Given the description of an element on the screen output the (x, y) to click on. 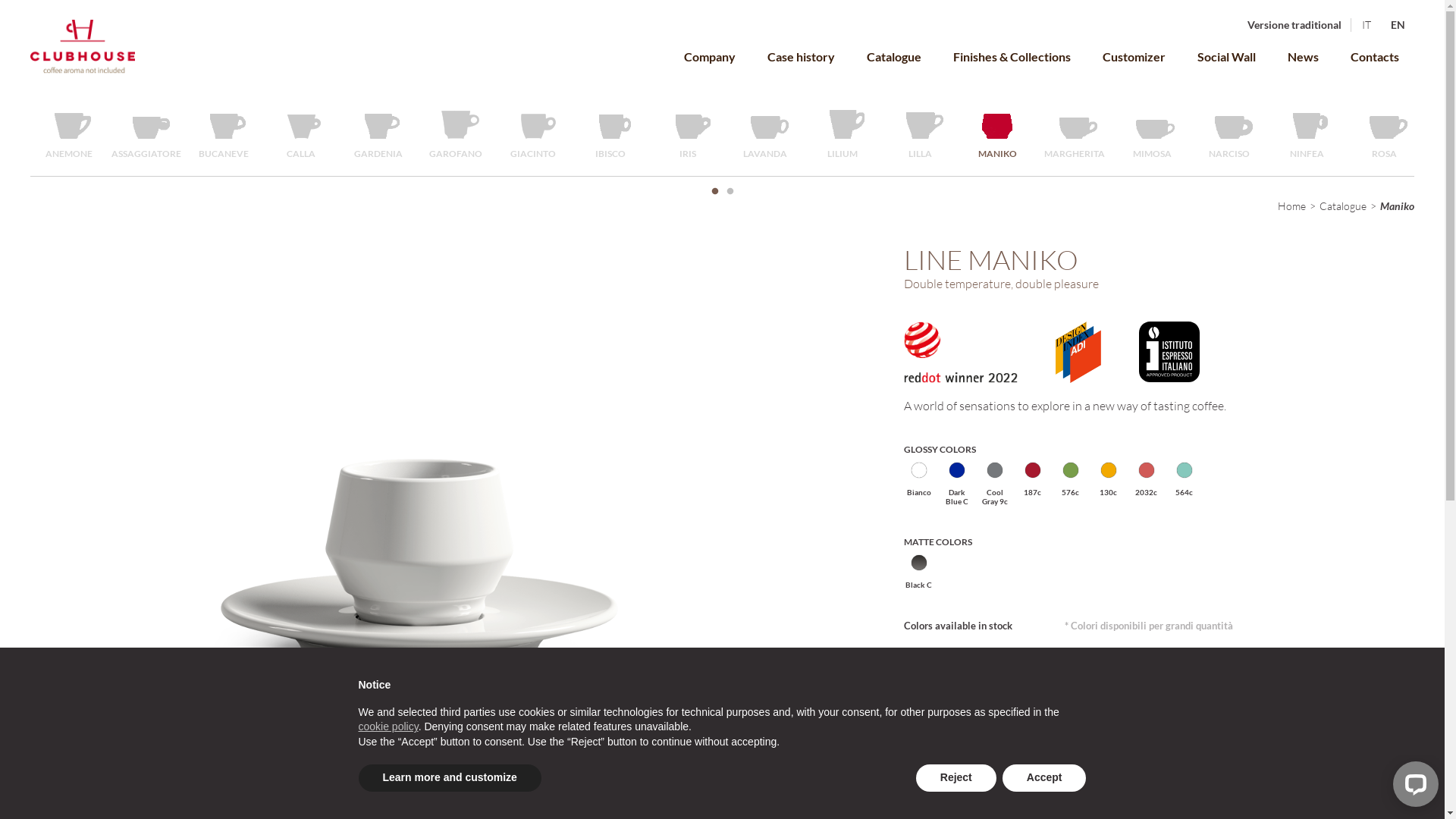
ANEMONE Element type: text (68, 130)
NINFEA Element type: text (1306, 130)
Accept Element type: text (1044, 777)
LILLA Element type: text (919, 130)
Catalogue Element type: text (1342, 205)
BUCANEVE Element type: text (223, 130)
EN Element type: text (1397, 24)
Reject Element type: text (956, 777)
Versione traditional Element type: text (1294, 24)
SUBSCRIBE TO THE NEWSLETTER Element type: text (738, 795)
GARDENIA Element type: text (378, 130)
Finishes & Collections Element type: text (1011, 56)
Case history Element type: text (800, 56)
START CUSTOMIZATION Element type: text (979, 677)
Company Element type: text (709, 56)
Learn more and customize Element type: text (448, 777)
Home Element type: text (1291, 205)
Customizer Element type: text (1134, 56)
ASK FOR A QUOTE Element type: text (1138, 677)
cookie policy Element type: text (387, 726)
Social Wall Element type: text (1226, 56)
LILIUM Element type: text (842, 130)
IT Element type: text (1366, 24)
News Element type: text (1303, 56)
1 Element type: text (713, 191)
NARCISO Element type: text (1228, 130)
MIMOSA Element type: text (1151, 130)
ROSA Element type: text (1383, 130)
2 Element type: text (729, 191)
IBISCO Element type: text (610, 130)
Catalogue Element type: text (893, 56)
MARGHERITA Element type: text (1074, 130)
ASSAGGIATORE Element type: text (146, 130)
Contacts Element type: text (1374, 56)
CALLA Element type: text (300, 130)
FOLLOW US ON Element type: text (1027, 795)
FEATURED ... Element type: text (461, 795)
GIACINTO Element type: text (532, 130)
MANIKO Element type: text (996, 130)
LAVANDA Element type: text (764, 130)
GAROFANO Element type: text (455, 130)
IRIS Element type: text (687, 130)
